Given the description of an element on the screen output the (x, y) to click on. 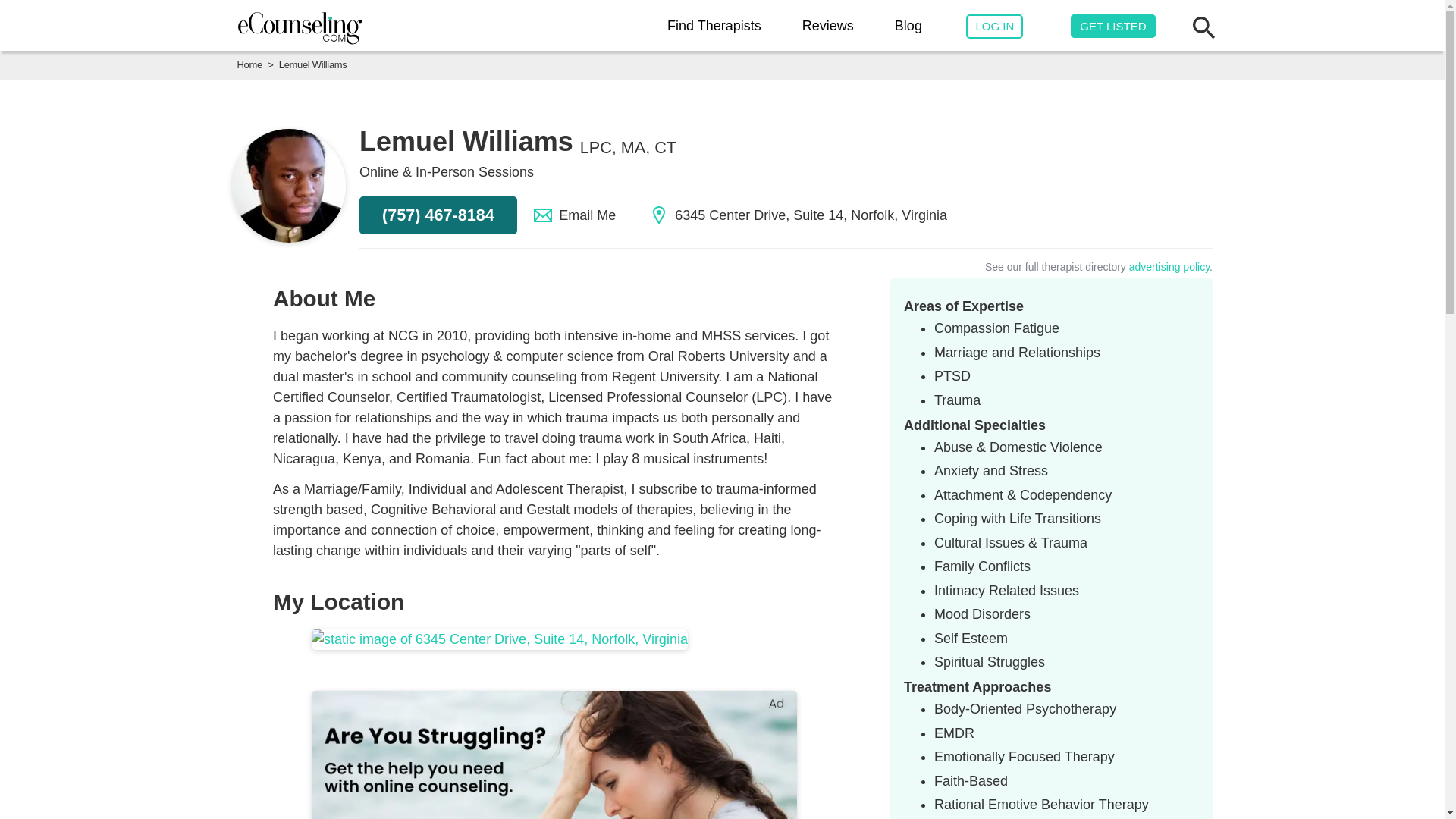
6345 Center Drive, Suite 14, Norfolk, Virginia (798, 215)
Find Therapists (713, 25)
Email Me (575, 215)
Home (248, 64)
Reviews (827, 25)
LOG IN (994, 26)
GET LISTED (1112, 25)
advertising policy (1169, 266)
Blog (908, 25)
